Given the description of an element on the screen output the (x, y) to click on. 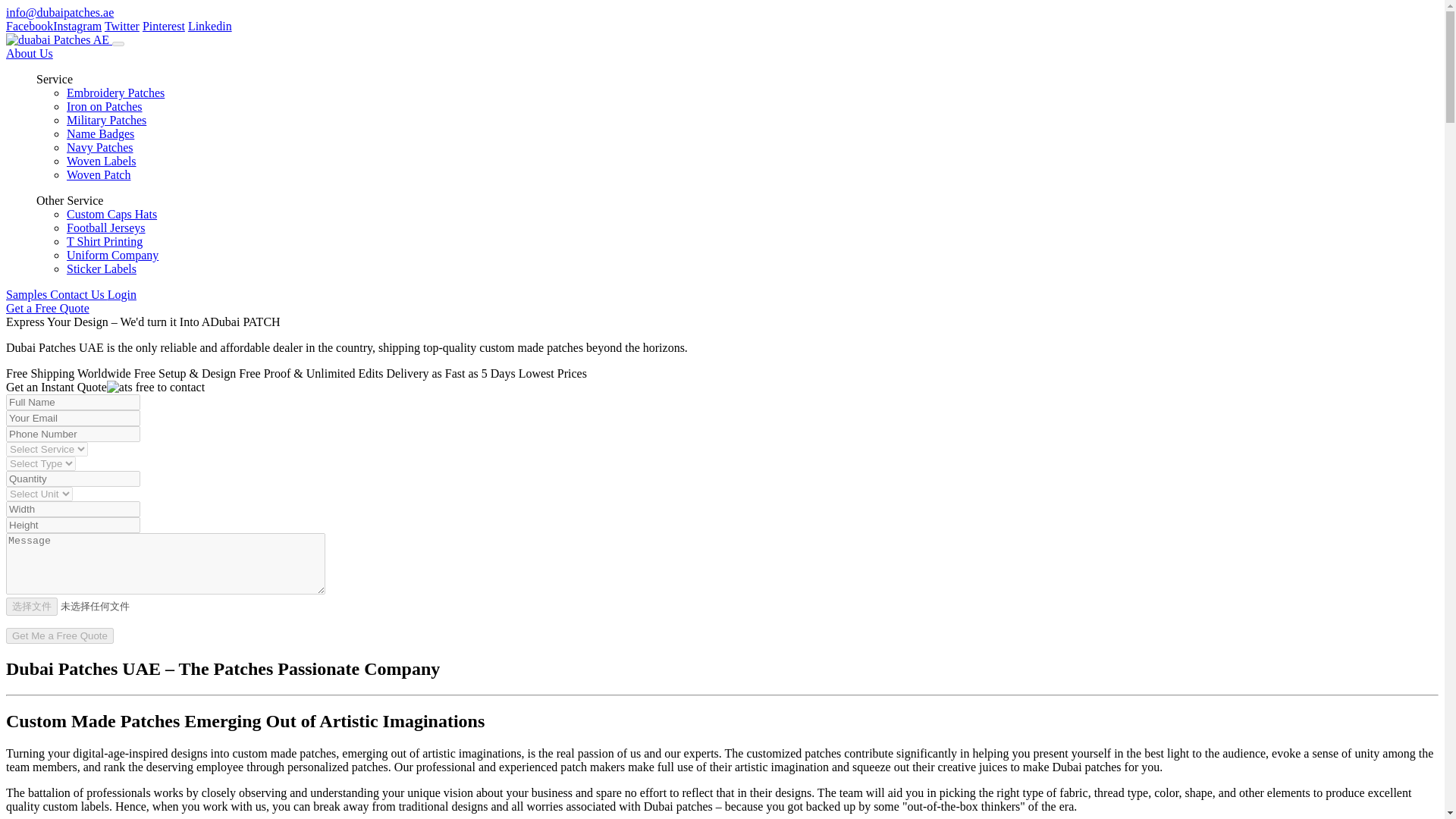
Woven Patch (98, 174)
T Shirt Printing (104, 241)
Get a Free Quote (46, 308)
Instagram (76, 25)
Twitter (121, 25)
Football Jerseys (105, 227)
Military Patches (106, 119)
Uniform Company (112, 254)
Embroidery Patches (115, 92)
Facebook (28, 25)
Linkedin (209, 25)
Sticker Labels (101, 268)
Pinterest (163, 25)
Get Me a Free Quote (59, 635)
About Us (28, 52)
